Given the description of an element on the screen output the (x, y) to click on. 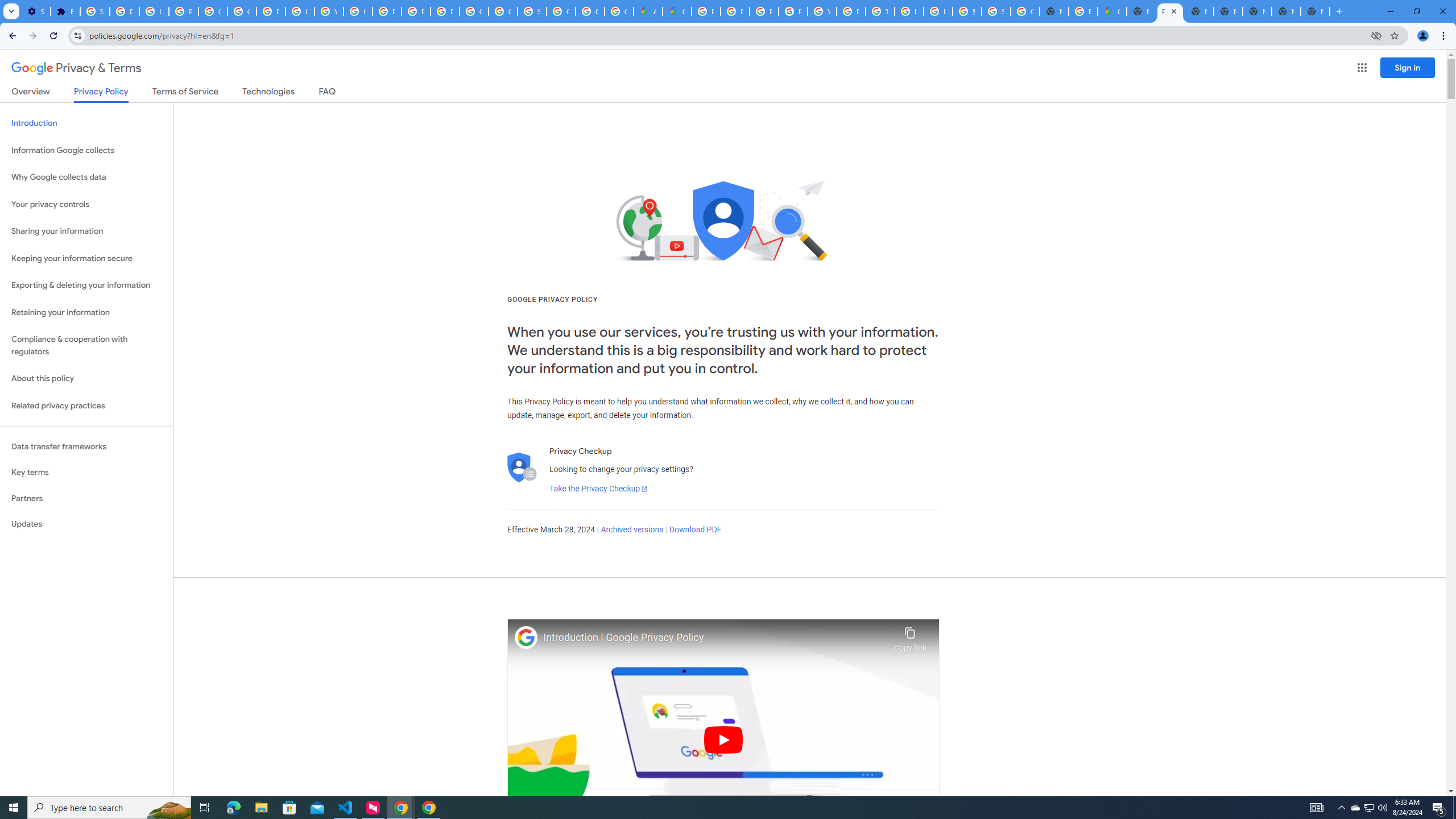
Updates (86, 524)
Google Account Help (242, 11)
Key terms (86, 472)
Introduction | Google Privacy Policy (715, 637)
Your privacy controls (86, 204)
Sign in - Google Accounts (996, 11)
Privacy Help Center - Policies Help (763, 11)
Terms of Service (184, 93)
Privacy Help Center - Policies Help (734, 11)
https://scholar.google.com/ (357, 11)
